Given the description of an element on the screen output the (x, y) to click on. 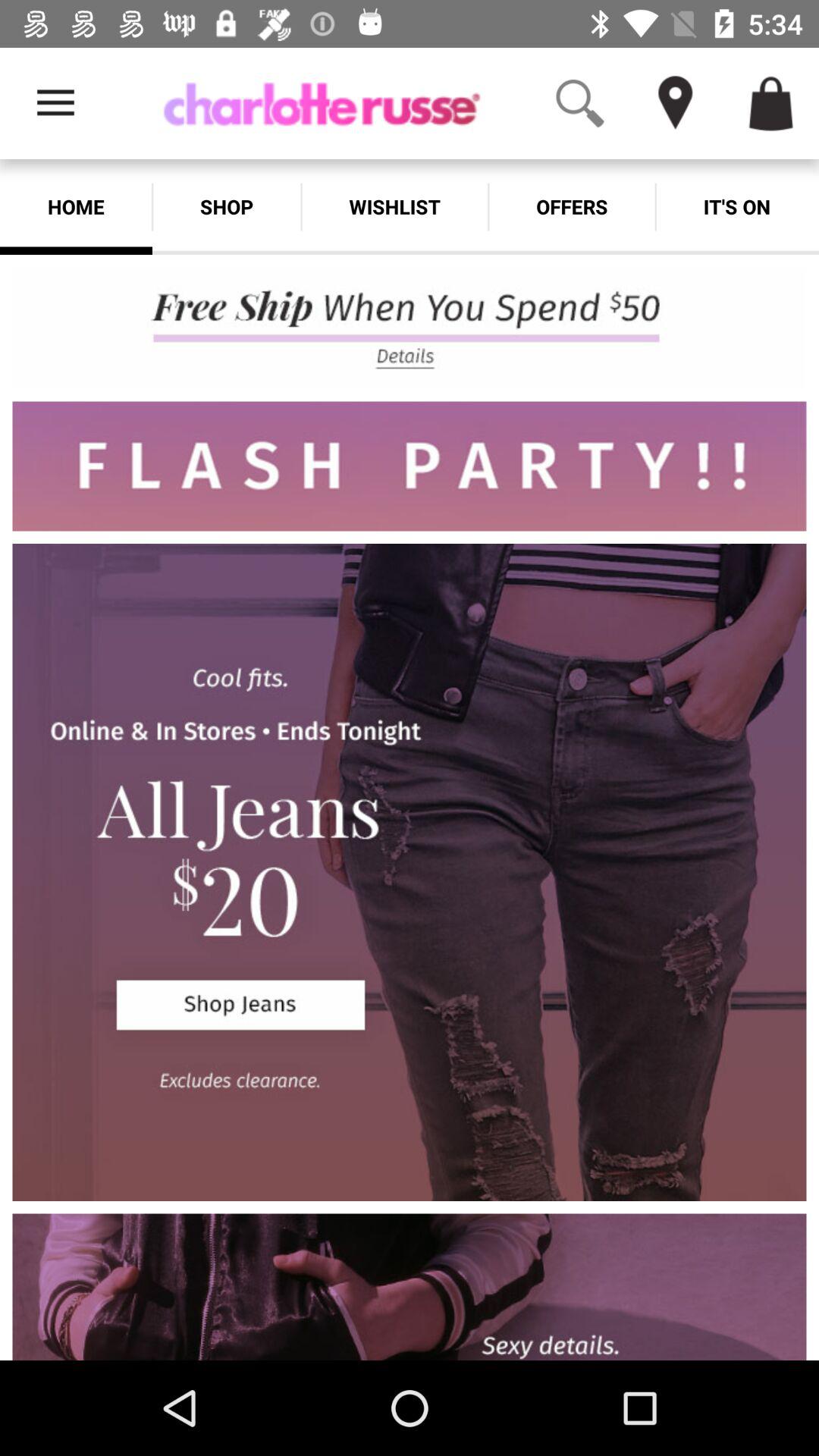
jump until the it's on (736, 206)
